Given the description of an element on the screen output the (x, y) to click on. 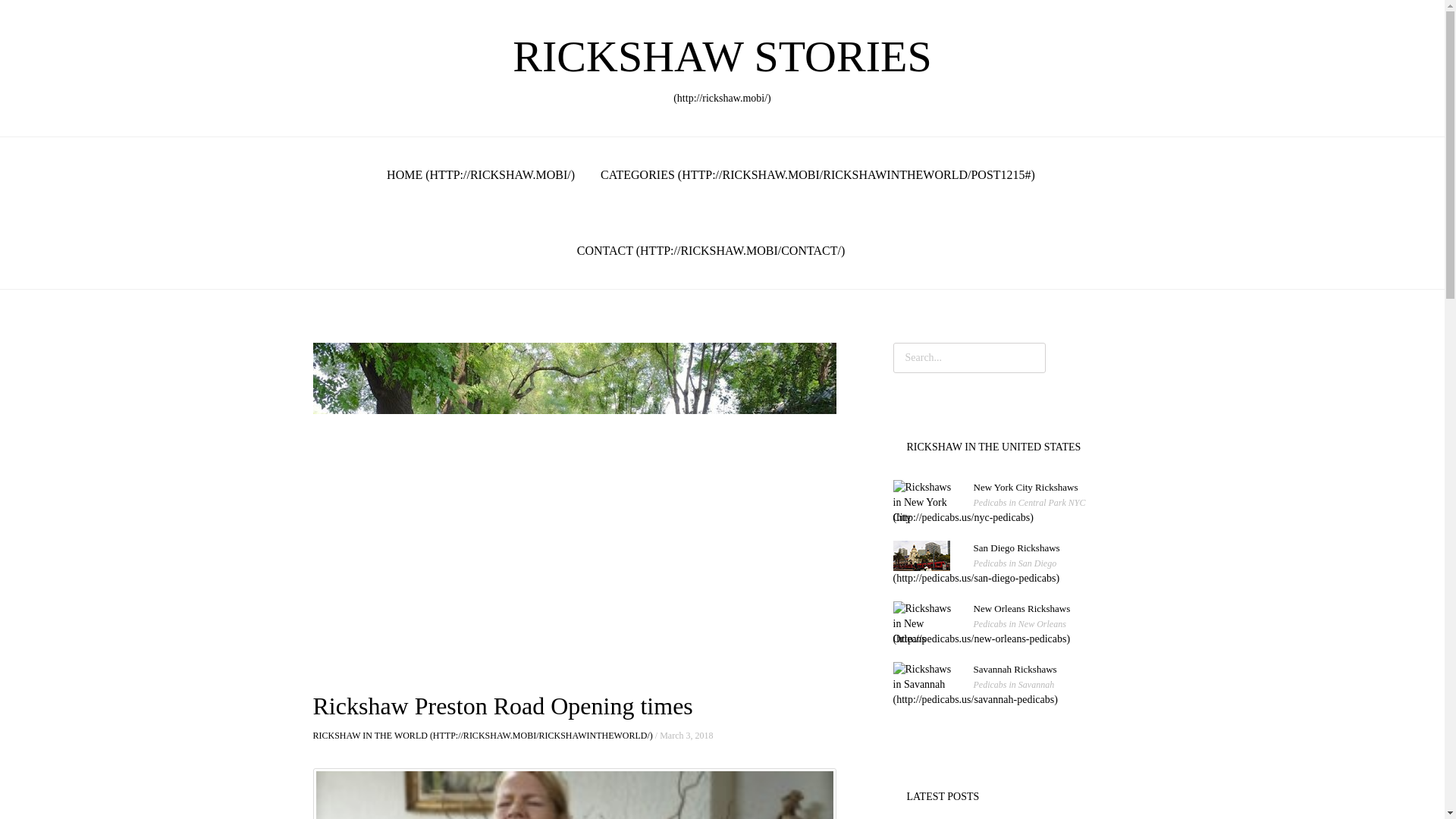
CONTACT (710, 250)
RICKSHAW IN THE WORLD (989, 509)
CATEGORIES (482, 735)
HOME (817, 174)
